Given the description of an element on the screen output the (x, y) to click on. 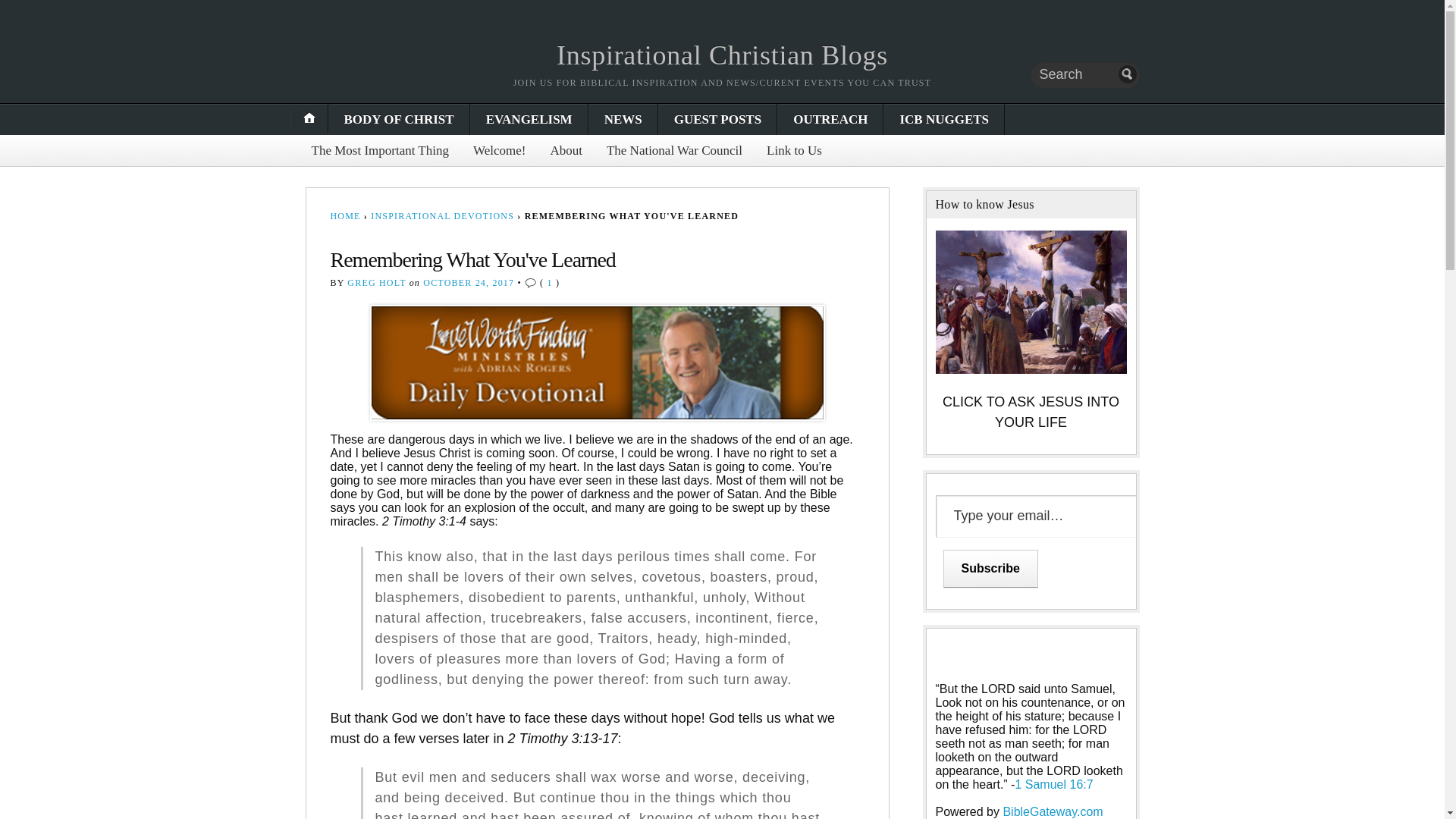
Welcome! (499, 150)
Link to Us (794, 150)
EVANGELISM (529, 119)
About (565, 150)
OUTREACH (829, 119)
GUEST POSTS (717, 119)
5:00 am (468, 282)
BODY OF CHRIST (398, 119)
View all posts by Greg Holt (376, 282)
Home (722, 55)
ICB NUGGETS (943, 119)
The National War Council (674, 150)
Inspirational Christian Blogs (722, 55)
NEWS (623, 119)
The Most Important Thing (379, 150)
